Given the description of an element on the screen output the (x, y) to click on. 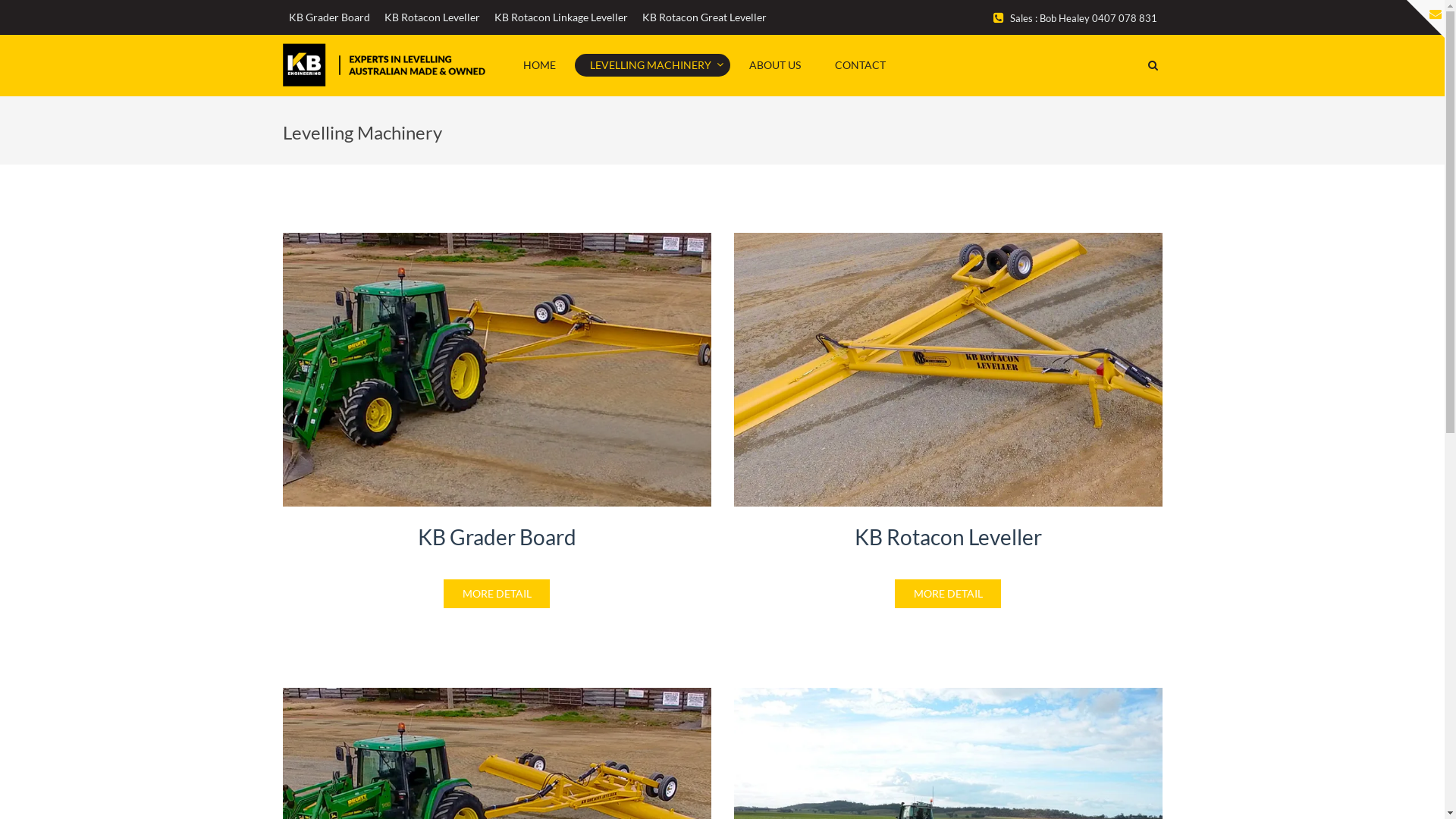
MORE DETAIL Element type: text (947, 593)
MORE DETAIL Element type: text (496, 593)
LEVELLING MACHINERY Element type: text (652, 64)
KB Grader Board Element type: text (328, 16)
ABOUT US Element type: text (774, 64)
HOME Element type: text (539, 64)
KB Rotacon Linkage Leveller Element type: text (560, 16)
CONTACT Element type: text (859, 64)
KB Rotacon Great Leveller Element type: text (703, 16)
KB Rotacon Leveller Element type: text (431, 16)
